Given the description of an element on the screen output the (x, y) to click on. 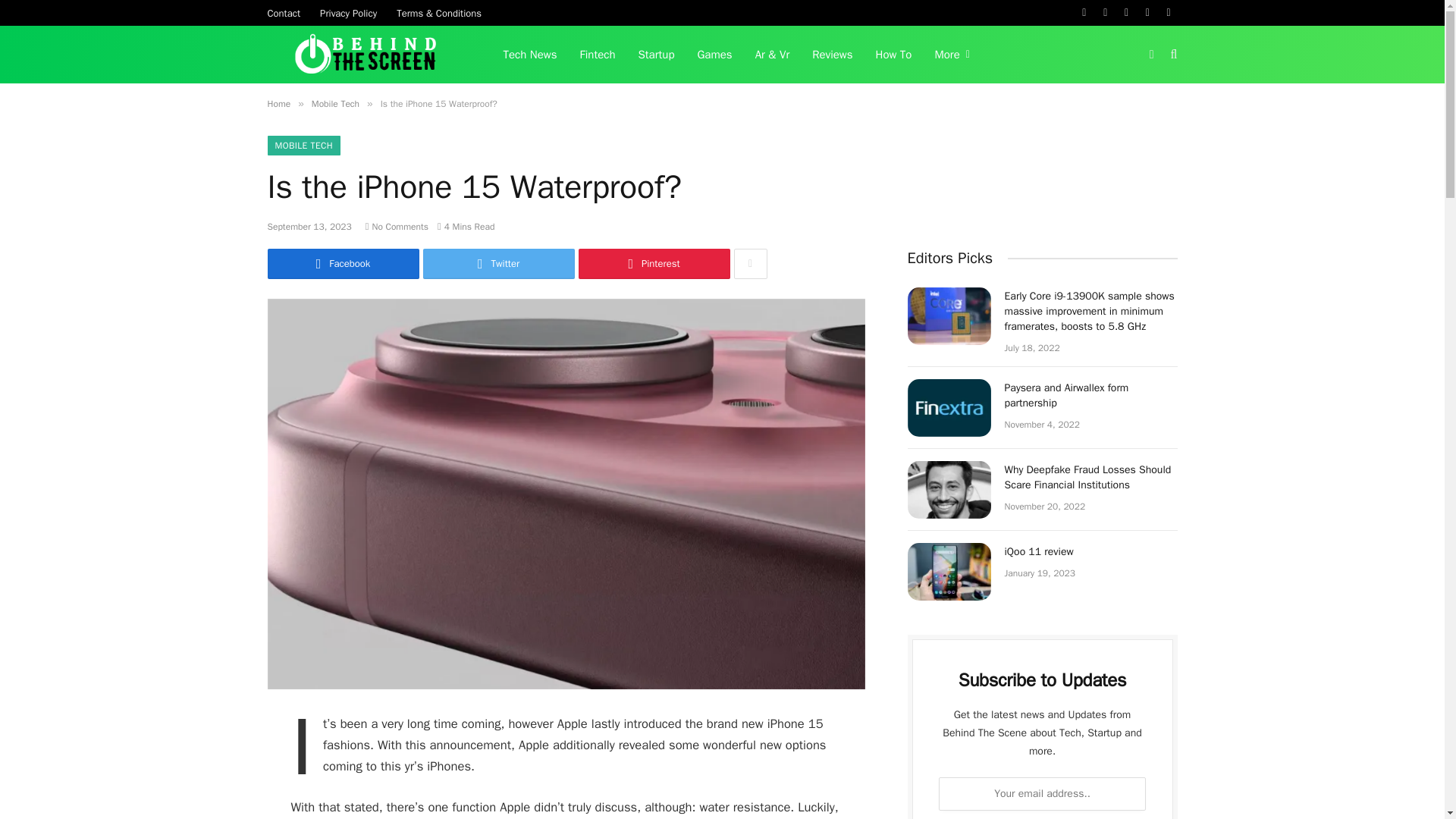
Contact (284, 12)
Tech News (529, 54)
Share on Pinterest (653, 263)
Games (713, 54)
More (951, 54)
Privacy Policy (348, 12)
Share on Facebook (342, 263)
Fintech (598, 54)
Reviews (831, 54)
Switch to Dark Design - easier on eyes. (1151, 54)
How To (893, 54)
Behind The Screen (365, 54)
Share on Twitter (499, 263)
Startup (656, 54)
